Given the description of an element on the screen output the (x, y) to click on. 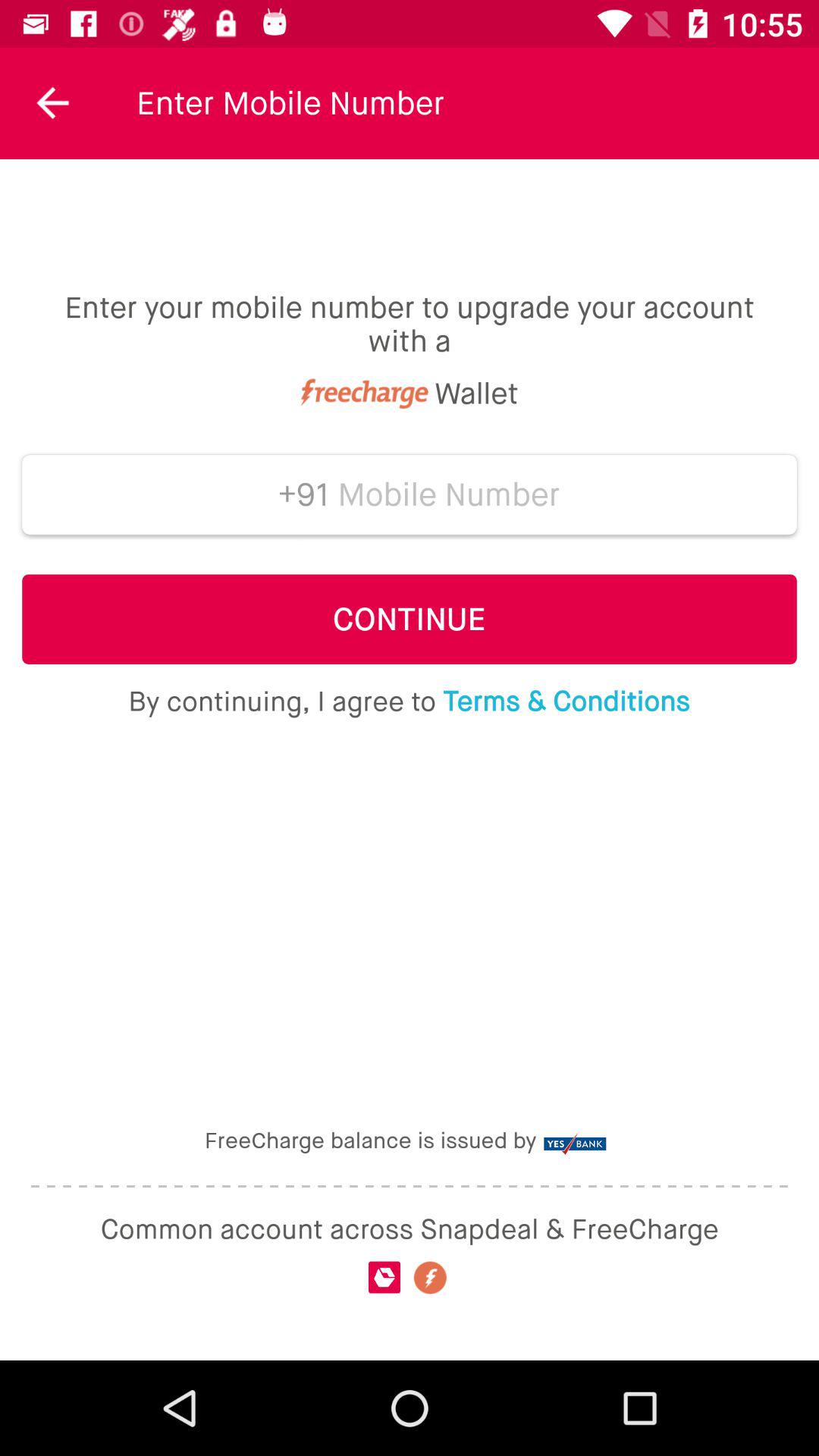
click on the left arrow (52, 102)
click on continue button (409, 619)
click on the text field beside 91 (449, 494)
click the snapdeal icon on the web page (384, 1278)
click on free charge icon at bottom of the page (430, 1277)
